Given the description of an element on the screen output the (x, y) to click on. 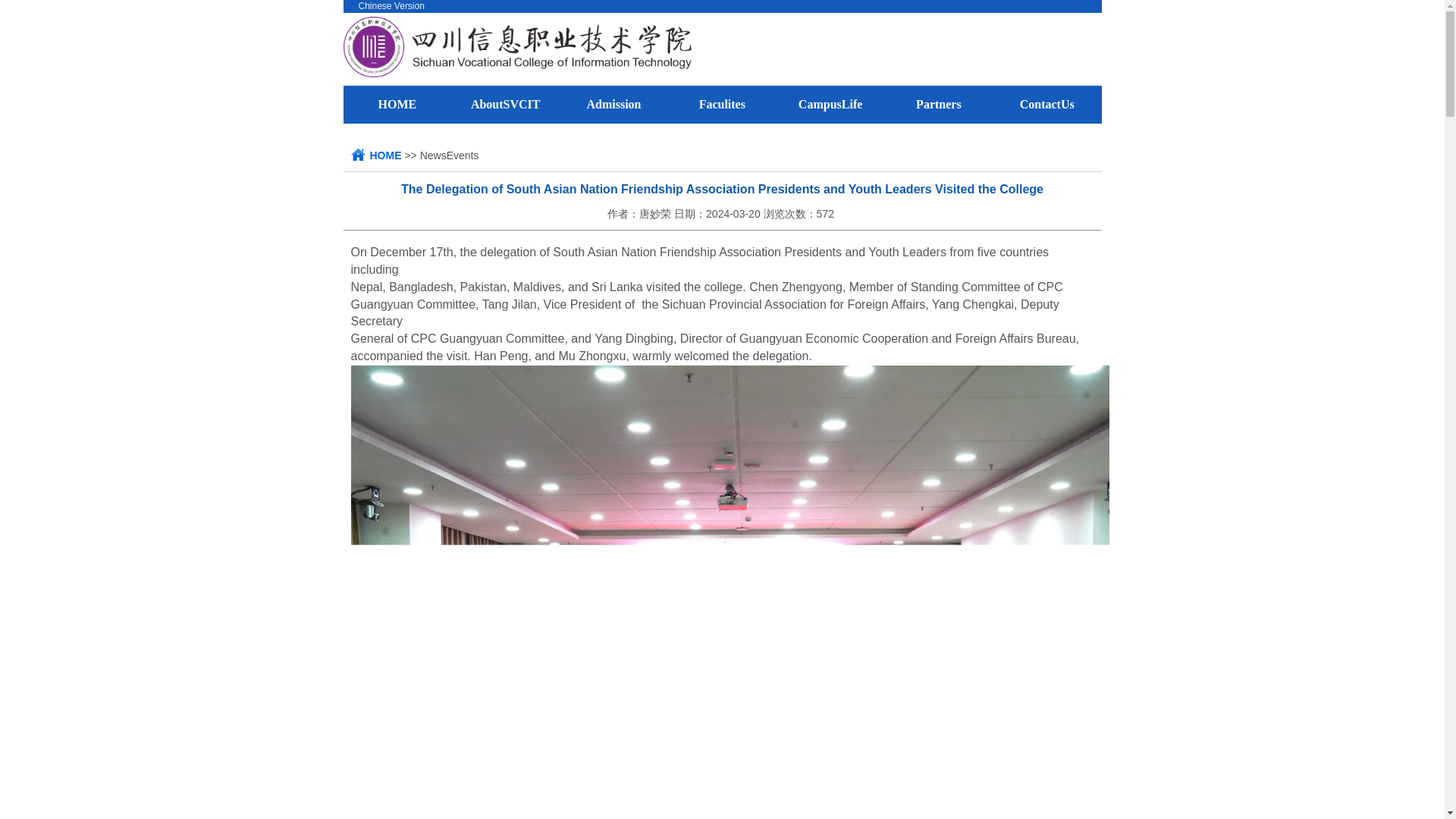
HOME (385, 155)
Chinese Version (390, 5)
CampusLife (829, 103)
Faculites (721, 103)
HOME (397, 103)
Partners (937, 103)
ContactUs (1047, 103)
AboutSVCIT (505, 103)
Admission (613, 103)
